Given the description of an element on the screen output the (x, y) to click on. 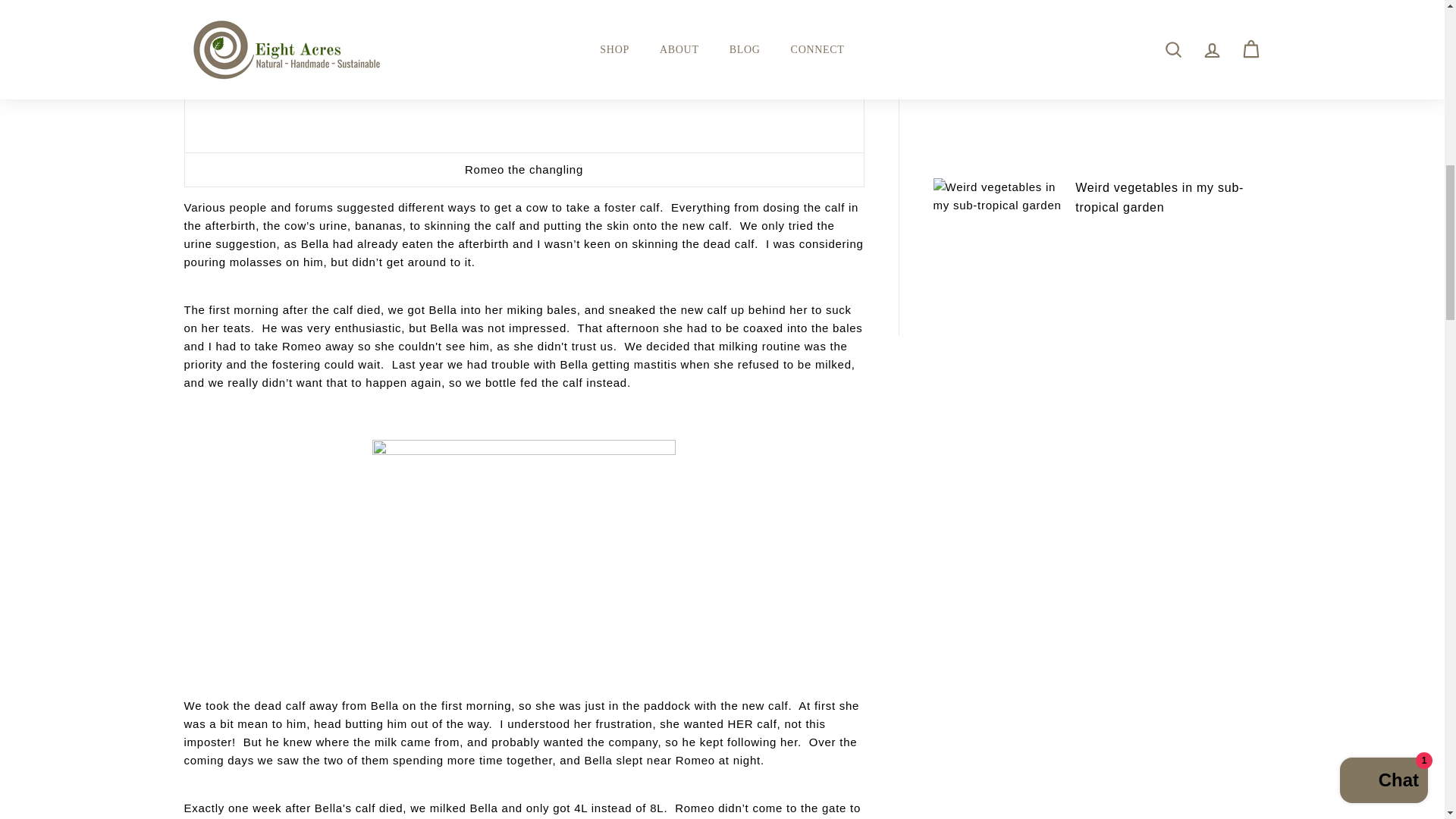
eight acres: a foster calf for a house cow (523, 72)
eight acres: a foster calf for a house cow (523, 553)
